Given the description of an element on the screen output the (x, y) to click on. 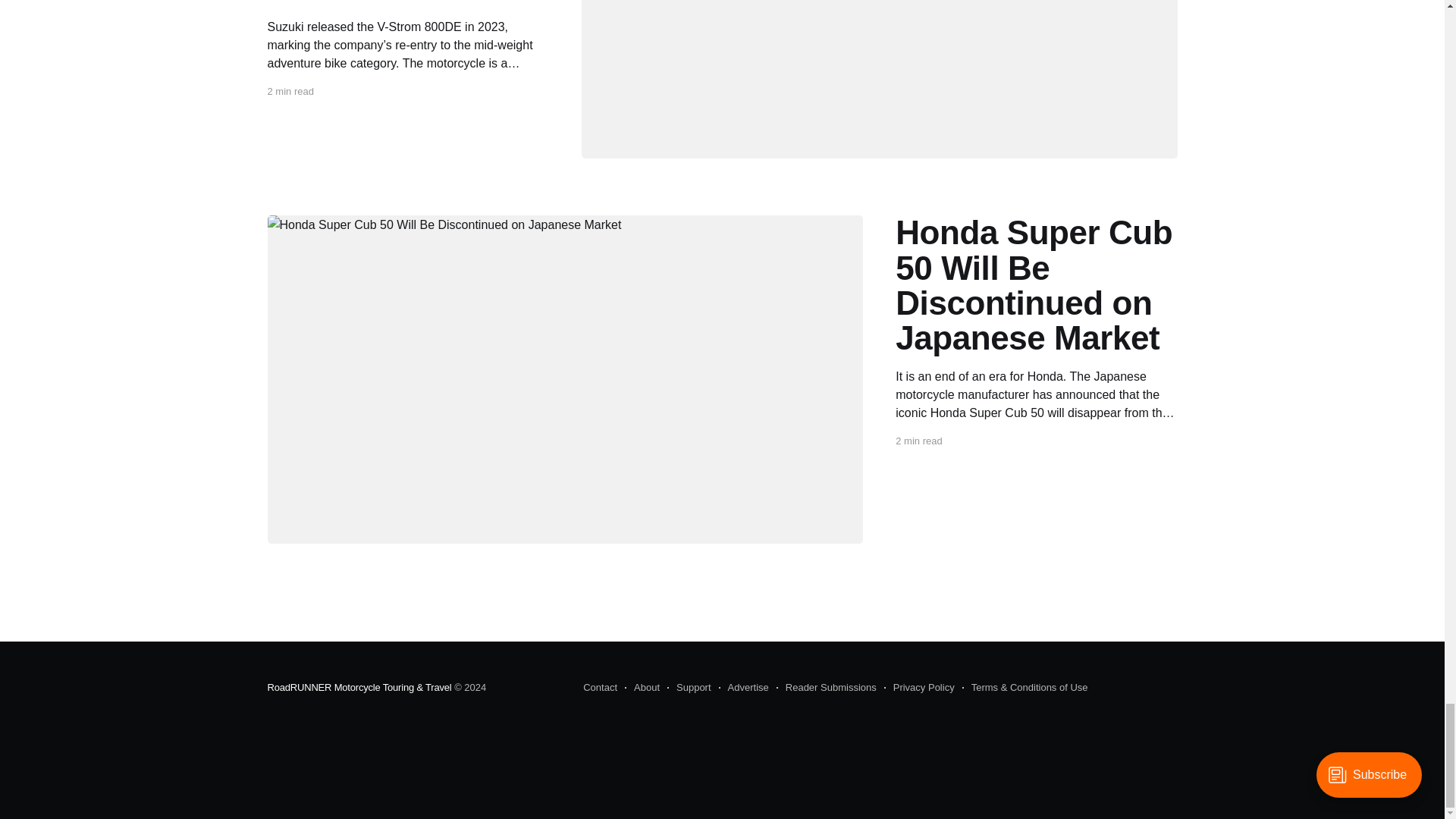
Advertise (743, 687)
About (641, 687)
Contact (600, 687)
Support (688, 687)
